Given the description of an element on the screen output the (x, y) to click on. 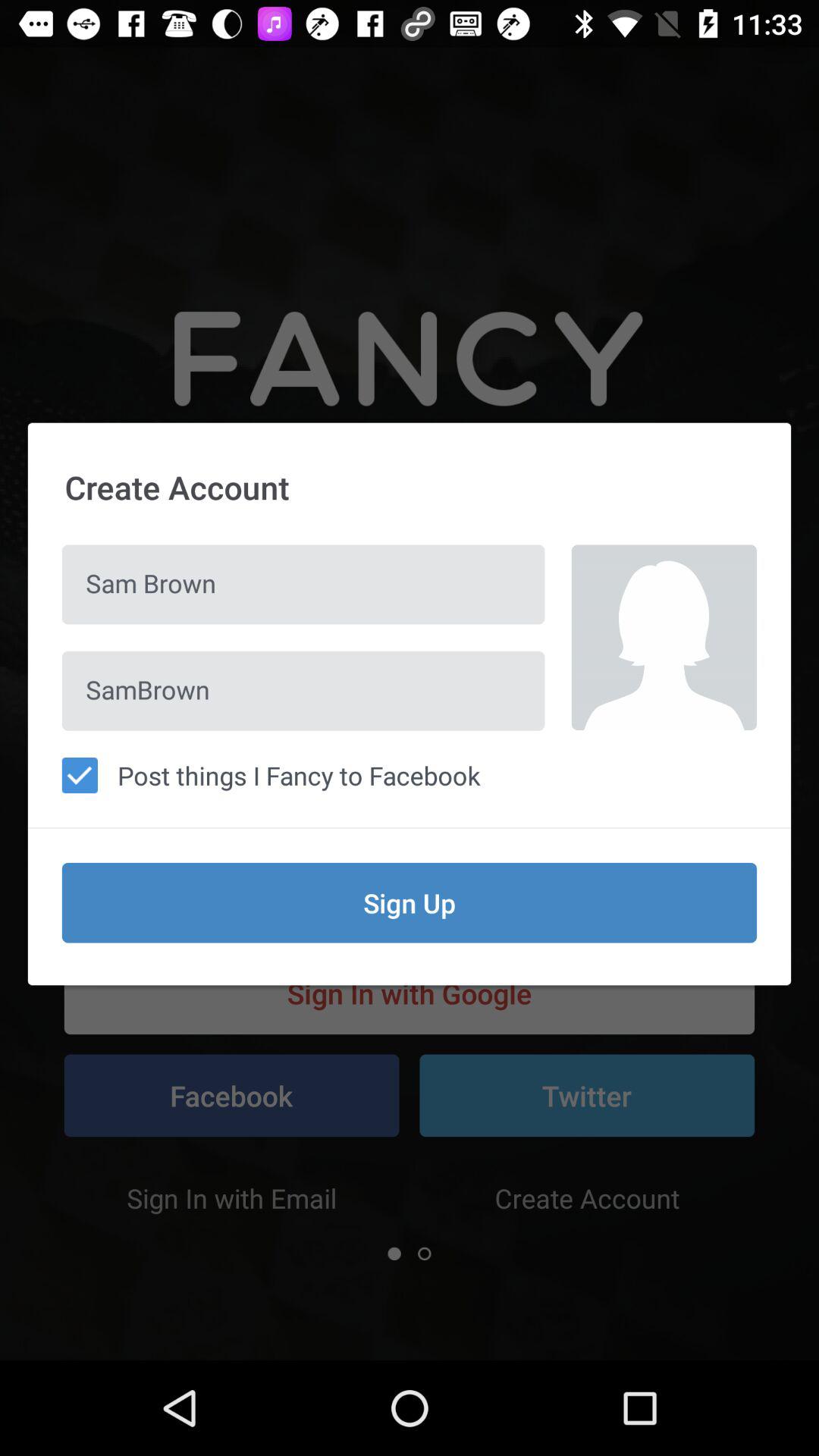
flip until the sign up item (409, 902)
